Given the description of an element on the screen output the (x, y) to click on. 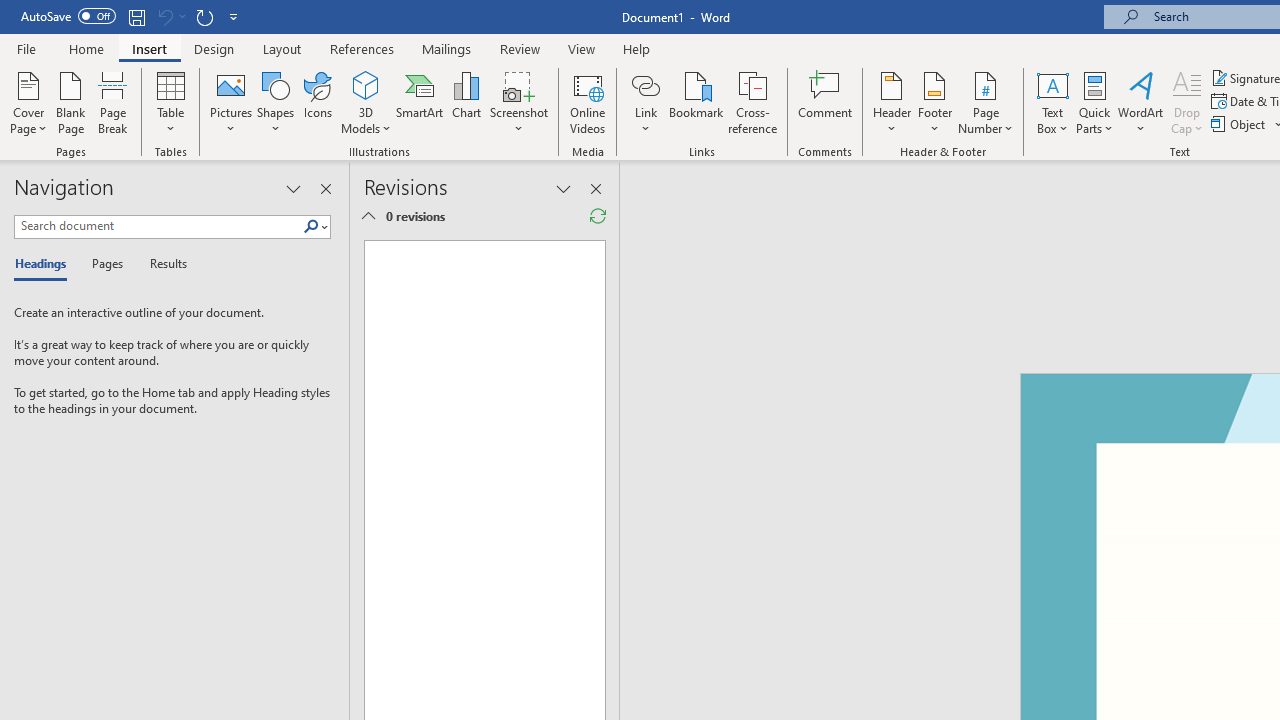
Headings (45, 264)
Link (645, 84)
Comment (825, 102)
Can't Undo (164, 15)
Table (170, 102)
Screenshot (518, 102)
Cover Page (28, 102)
Quick Parts (1094, 102)
Page Break (113, 102)
3D Models (366, 84)
